Given the description of an element on the screen output the (x, y) to click on. 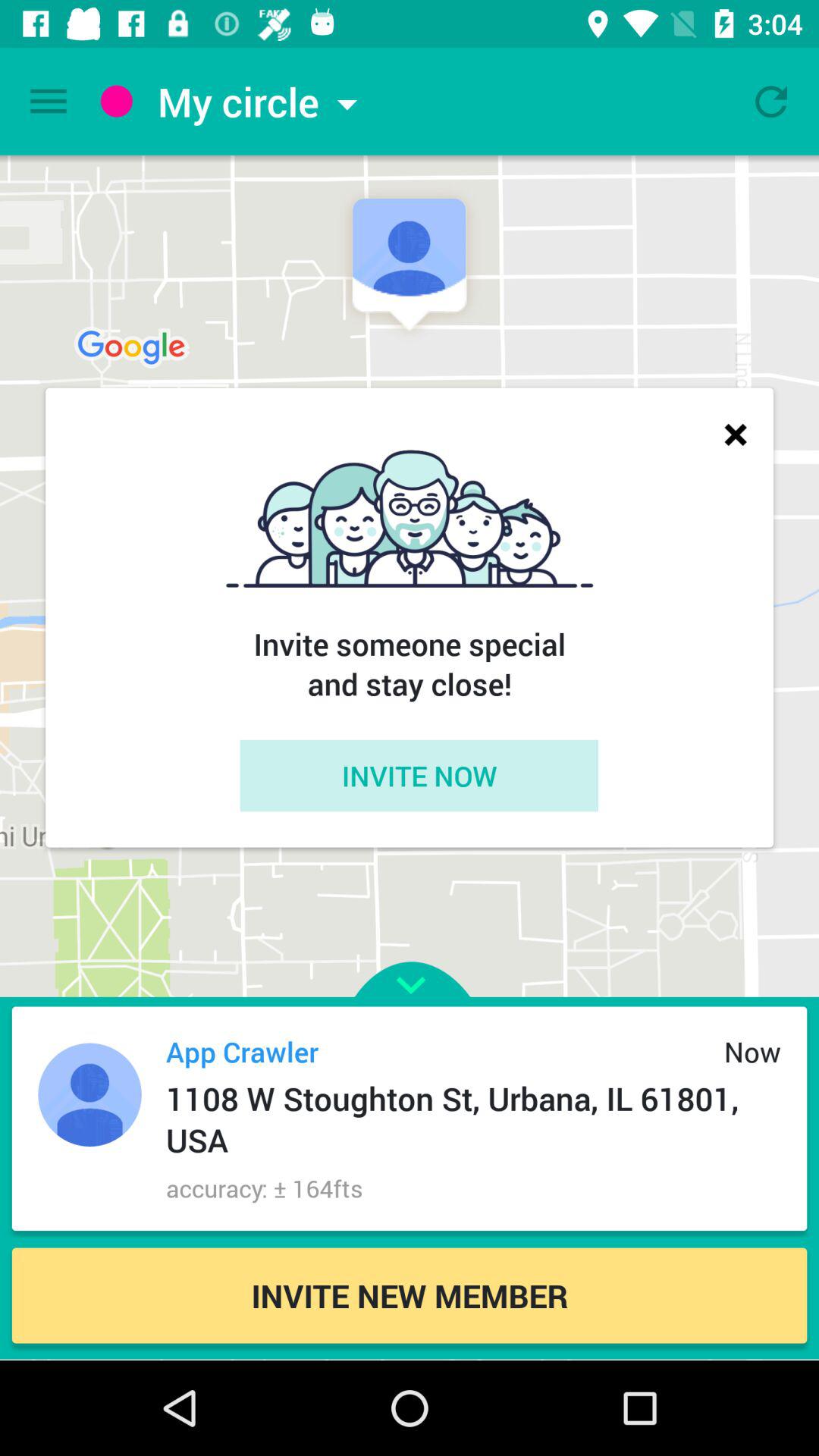
reload (771, 101)
